Given the description of an element on the screen output the (x, y) to click on. 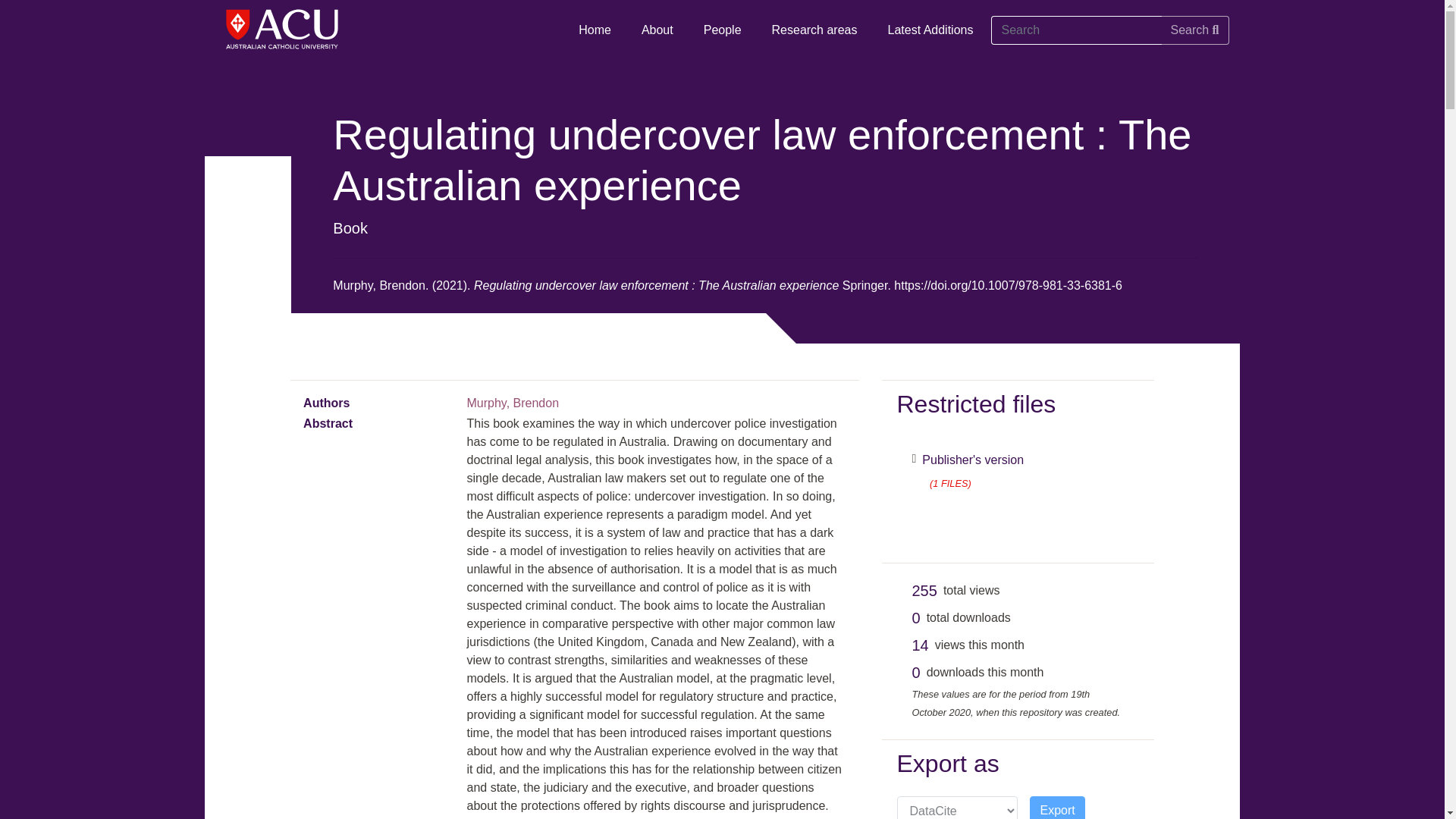
Murphy, Brendon (512, 402)
Home (594, 30)
About (656, 30)
Australian Catholic University homepage (283, 33)
Search (1194, 30)
Export (1056, 807)
Research areas (814, 30)
Latest Additions (930, 30)
People (722, 30)
